Given the description of an element on the screen output the (x, y) to click on. 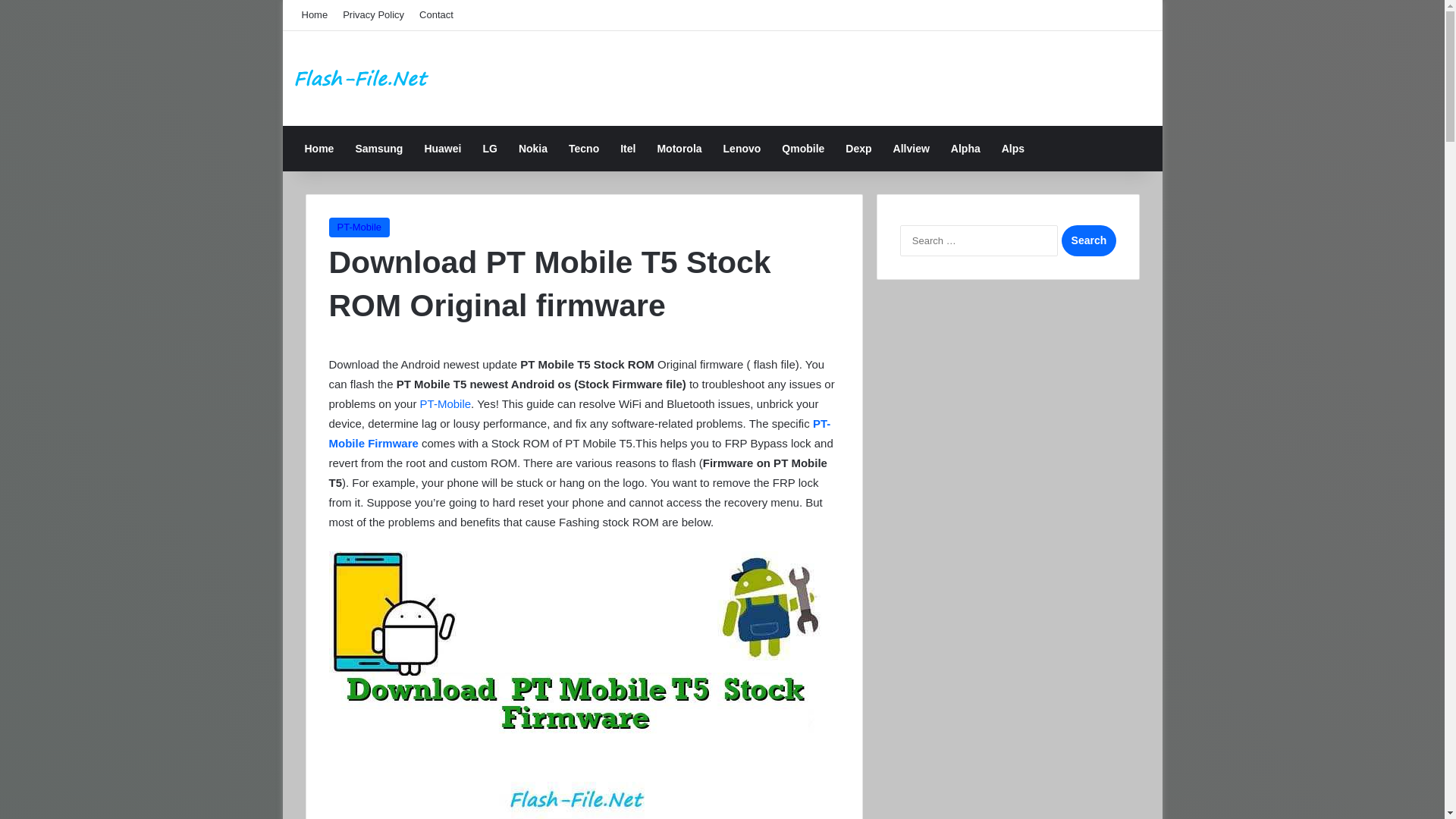
Nokia (532, 148)
Search (1088, 240)
Motorola (678, 148)
Alps (1013, 148)
Tecno (583, 148)
Dexp (858, 148)
Privacy Policy (373, 15)
Contact (436, 15)
Search (1088, 240)
Home (315, 15)
Allview (911, 148)
PT-Mobile (445, 403)
Huawei (442, 148)
Qmobile (802, 148)
PT-Mobile (359, 227)
